Given the description of an element on the screen output the (x, y) to click on. 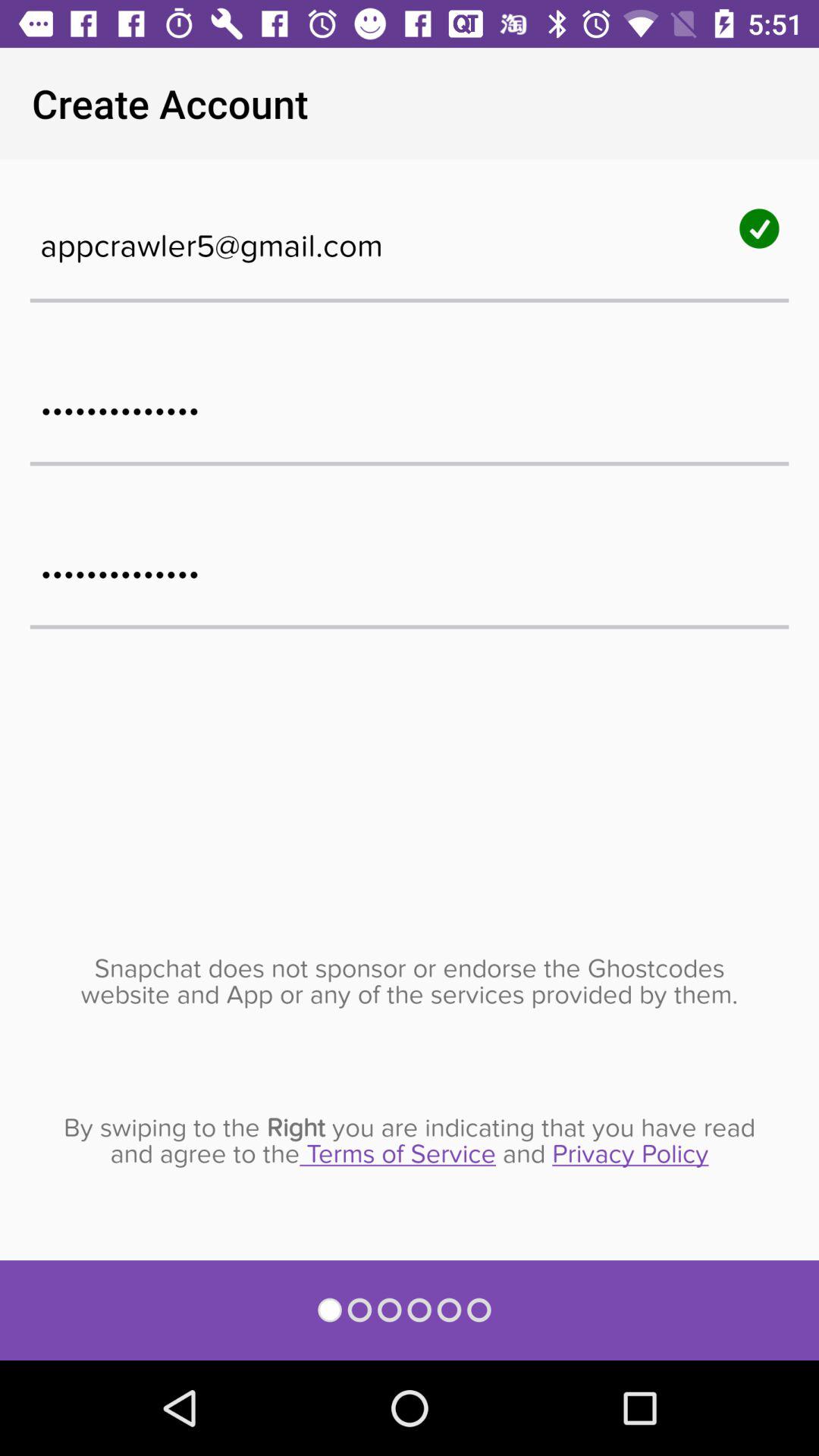
press item below the snapchat does not icon (409, 1141)
